Given the description of an element on the screen output the (x, y) to click on. 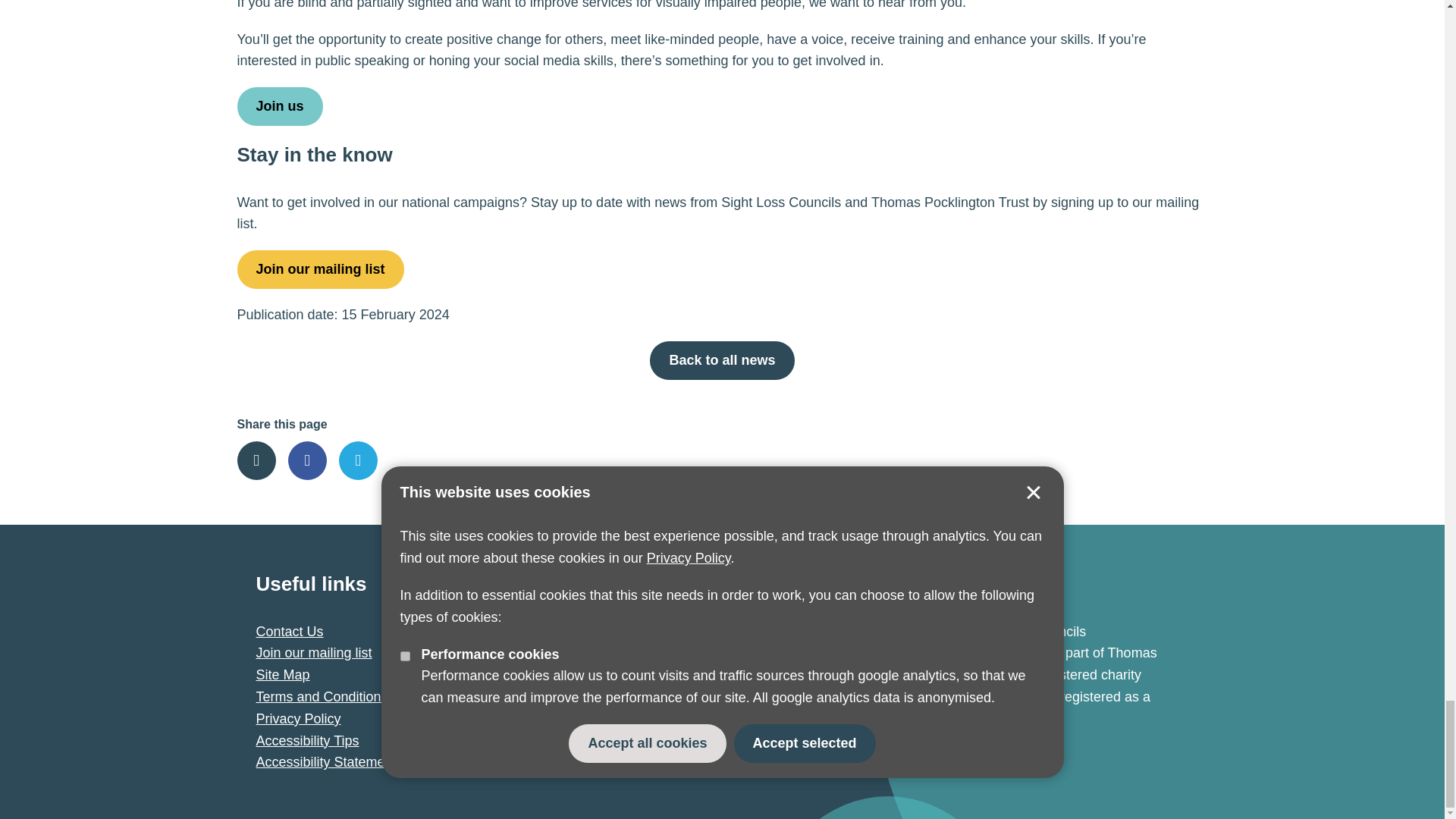
Follow us on Twitter (607, 742)
Find us on Facebook (649, 742)
